Given the description of an element on the screen output the (x, y) to click on. 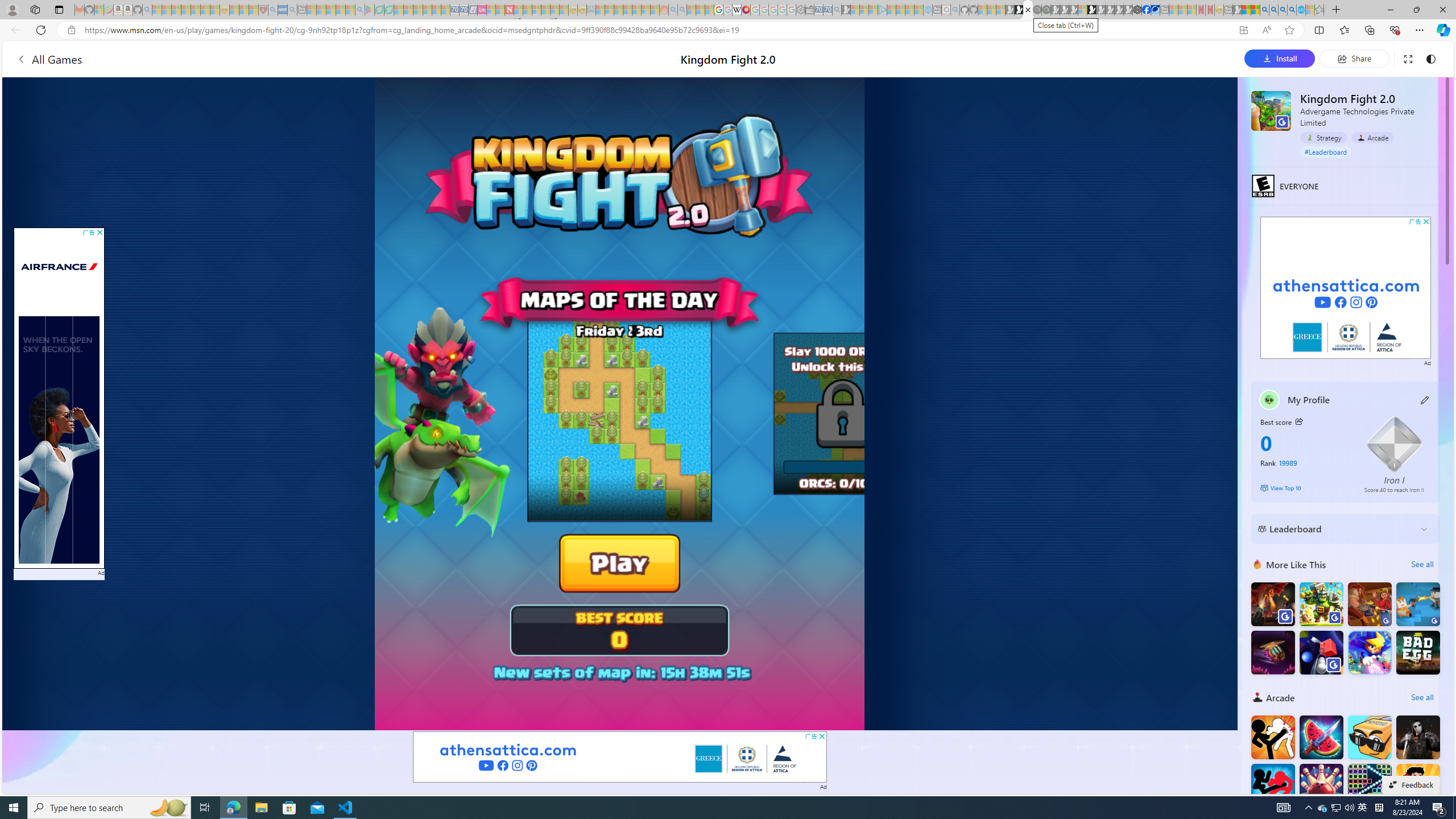
Cheap Hotels - Save70.com - Sleeping (463, 9)
Favorites - Sleeping (1318, 9)
All Games (49, 58)
Strategy (1323, 137)
Advertisement (1345, 287)
Nordace | Facebook (1146, 9)
Terms of Use Agreement - Sleeping (378, 9)
Saloon Robbery (1369, 603)
